Given the description of an element on the screen output the (x, y) to click on. 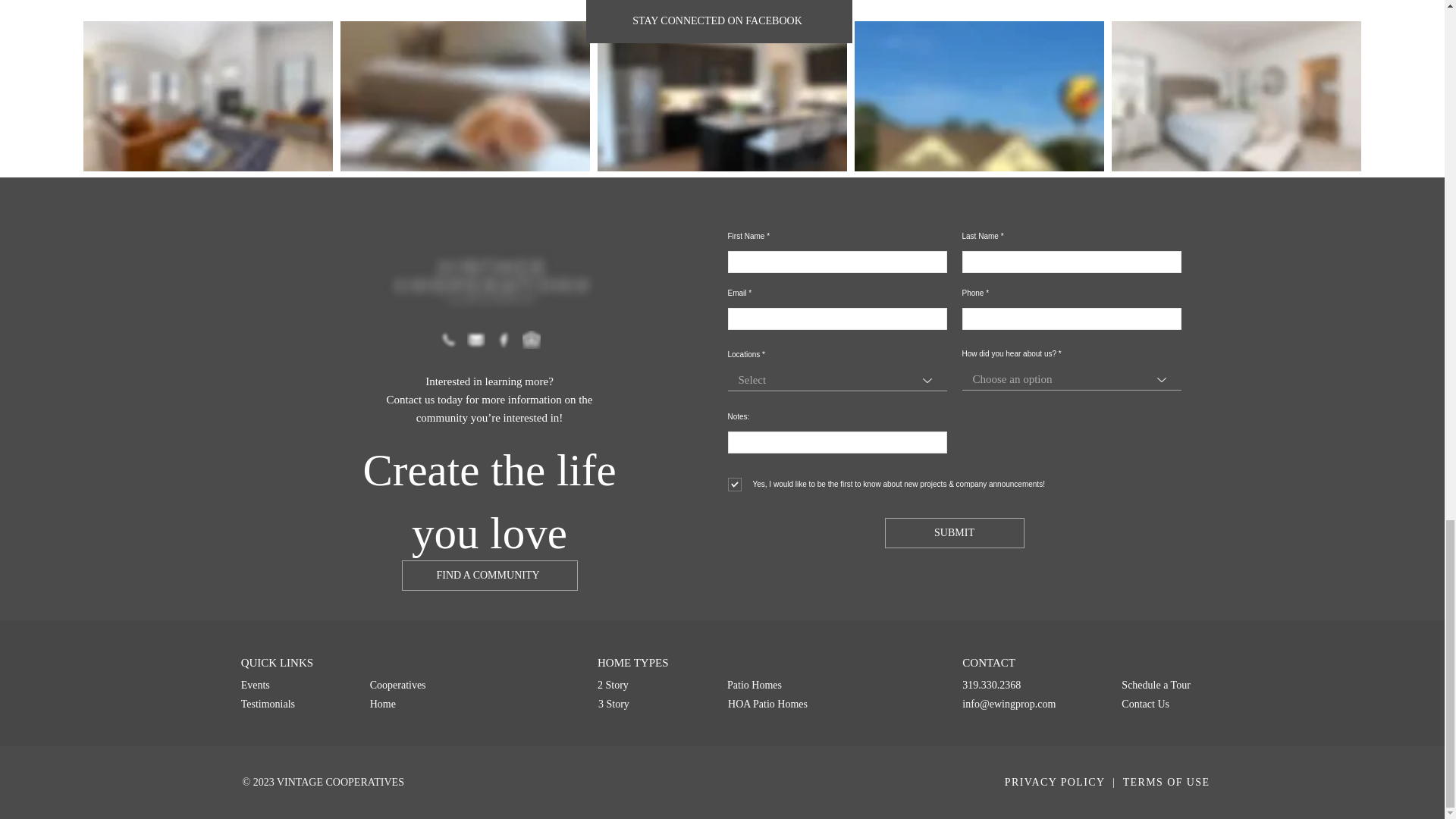
Events (295, 684)
Schedule a Tour (1167, 684)
319.330.2368 (1016, 684)
TERMS OF USE (1164, 781)
Cooperatives (416, 684)
PRIVACY POLICY (1054, 781)
HOA Patio Homes (783, 703)
Patio Homes (781, 684)
CONTACT (1032, 662)
Home (416, 703)
Testimonials (295, 703)
Contact Us (1167, 703)
3 Story (652, 703)
2 Story (651, 684)
